Given the description of an element on the screen output the (x, y) to click on. 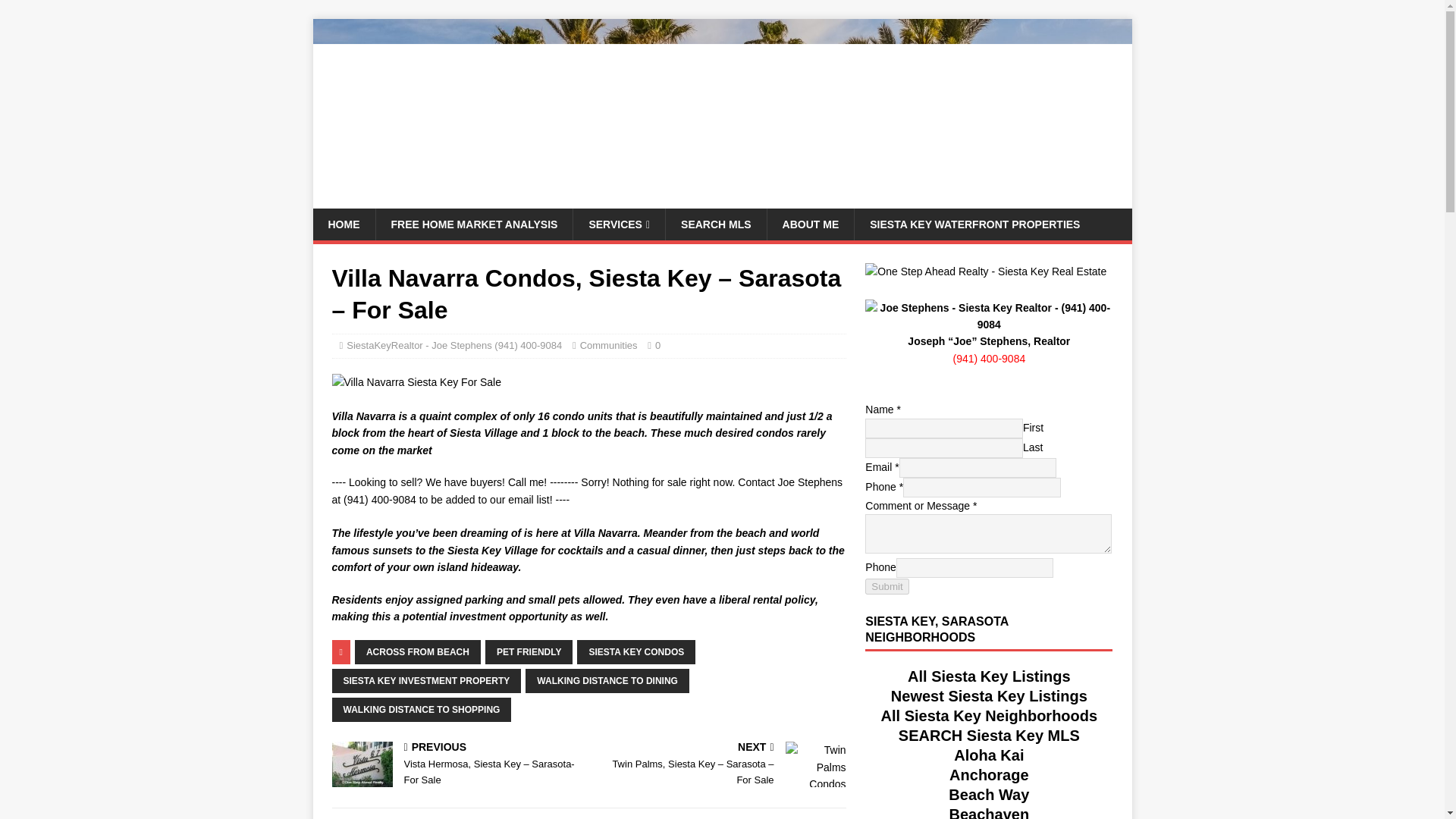
SERVICES (618, 224)
All Siesta Key Listings (988, 676)
Siesta Key Living (722, 199)
Beach Way (989, 794)
SIESTA KEY WATERFRONT PROPERTIES (973, 224)
Aloha Kai (988, 754)
WALKING DISTANCE TO SHOPPING (421, 709)
SIESTA KEY CONDOS (635, 651)
FREE HOME MARKET ANALYSIS (473, 224)
Newest Siesta Key Listings (989, 695)
Anchorage (988, 774)
SEARCH MLS (716, 224)
All Siesta Key Neighborhoods (988, 715)
HOME (343, 224)
Submit (886, 586)
